Given the description of an element on the screen output the (x, y) to click on. 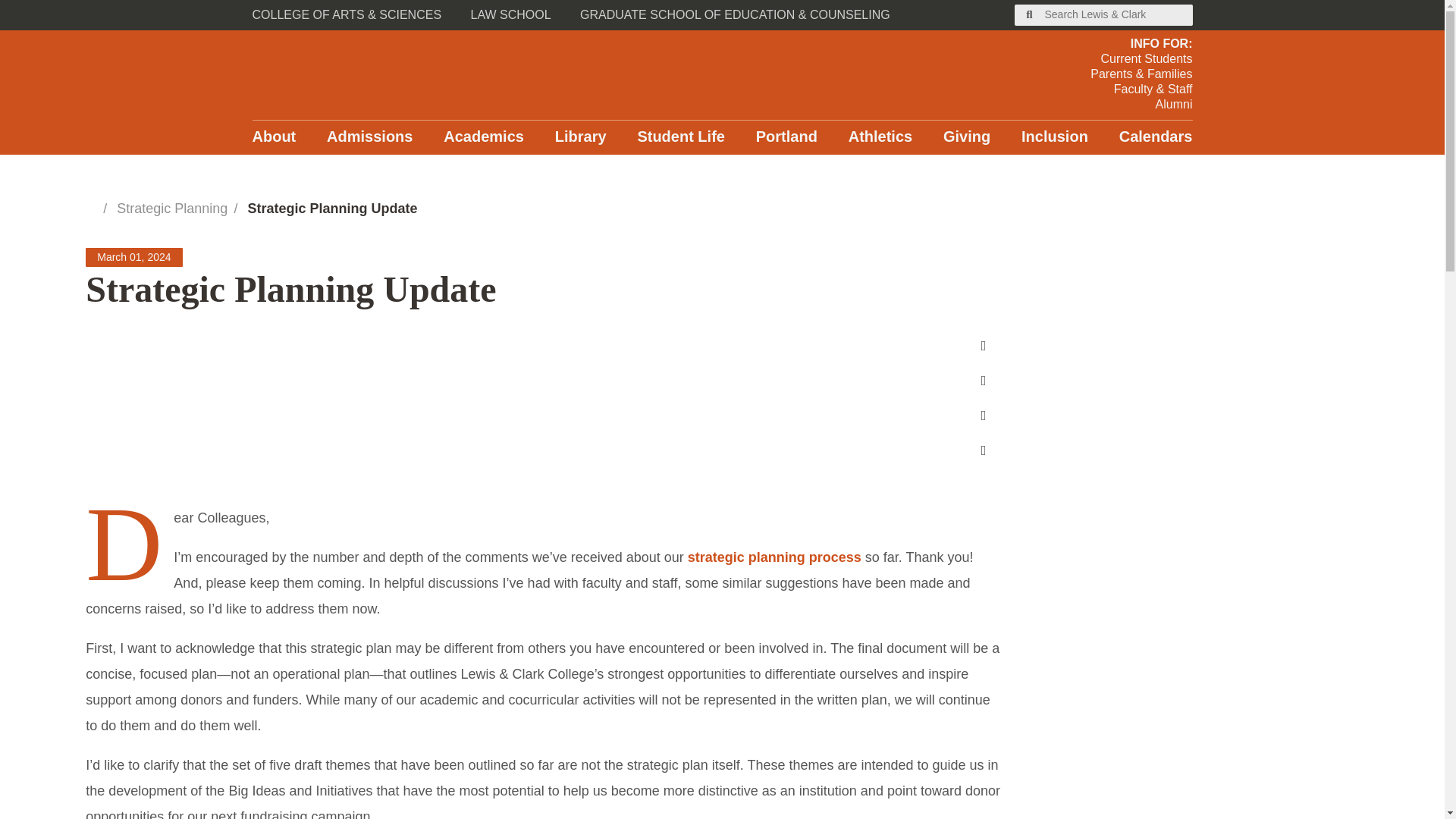
Portland (785, 137)
Giving (966, 137)
Share on Twitter (983, 415)
Athletics (880, 137)
Share on Facebook (983, 345)
Share via email (983, 450)
Inclusion (1054, 137)
Calendars (1155, 137)
strategic planning process (774, 557)
Strategic Planning (171, 208)
